Given the description of an element on the screen output the (x, y) to click on. 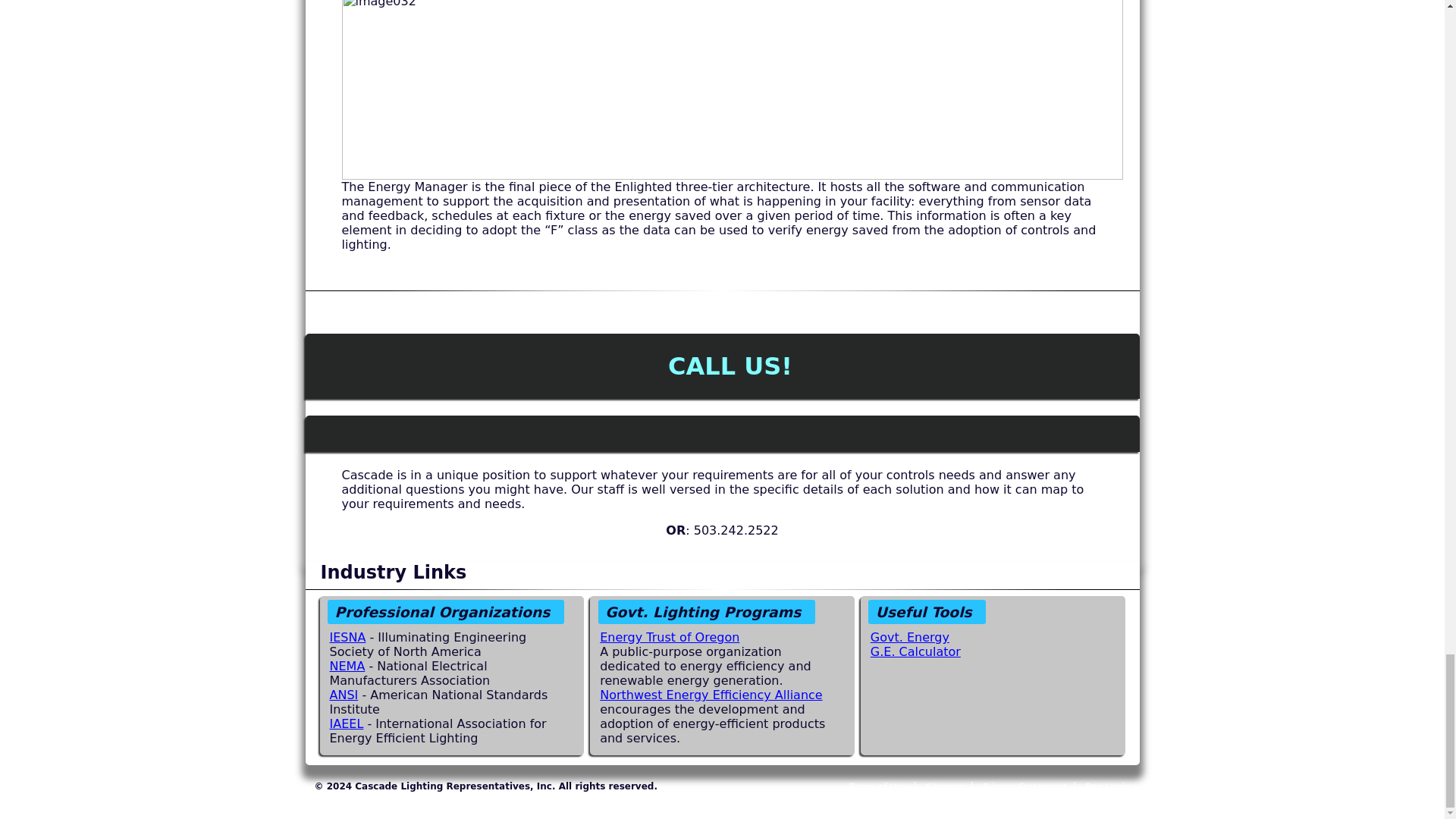
IAEEL (345, 723)
ANSI (343, 694)
IESNA (347, 636)
Govt. Energy (909, 636)
Energy Trust of Oregon (669, 636)
NEMA (347, 666)
Northwest Energy Efficiency Alliance (710, 694)
G.E. Calculator (915, 651)
